Given the description of an element on the screen output the (x, y) to click on. 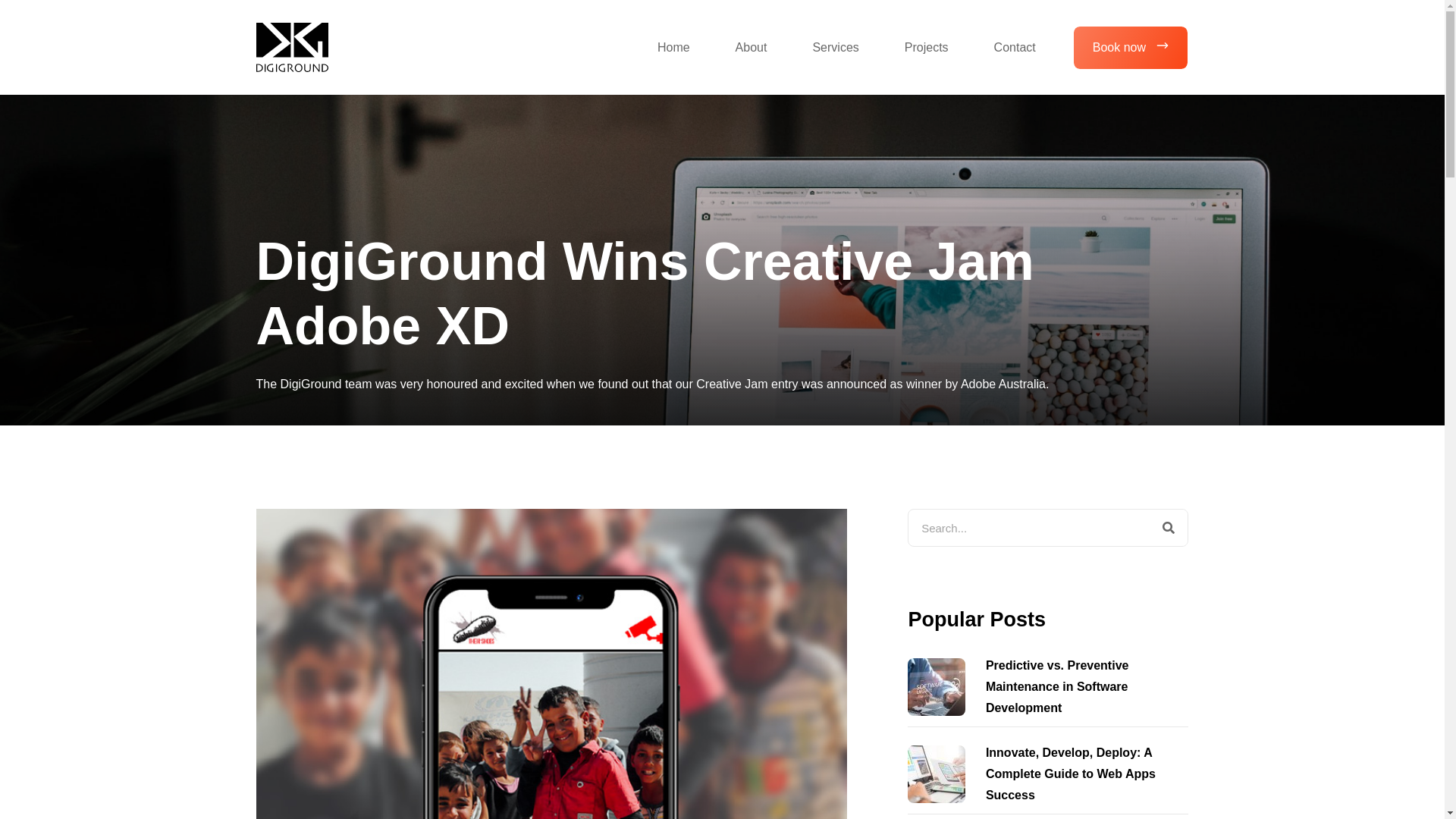
Projects Element type: text (926, 46)
Software Maintenance Element type: hover (936, 686)
Services Element type: text (835, 46)
Guide to Web App Success Element type: hover (936, 774)
Book now Element type: text (1130, 46)
About Element type: text (751, 46)
Home Element type: text (673, 46)
Contact Element type: text (1014, 46)
